Given the description of an element on the screen output the (x, y) to click on. 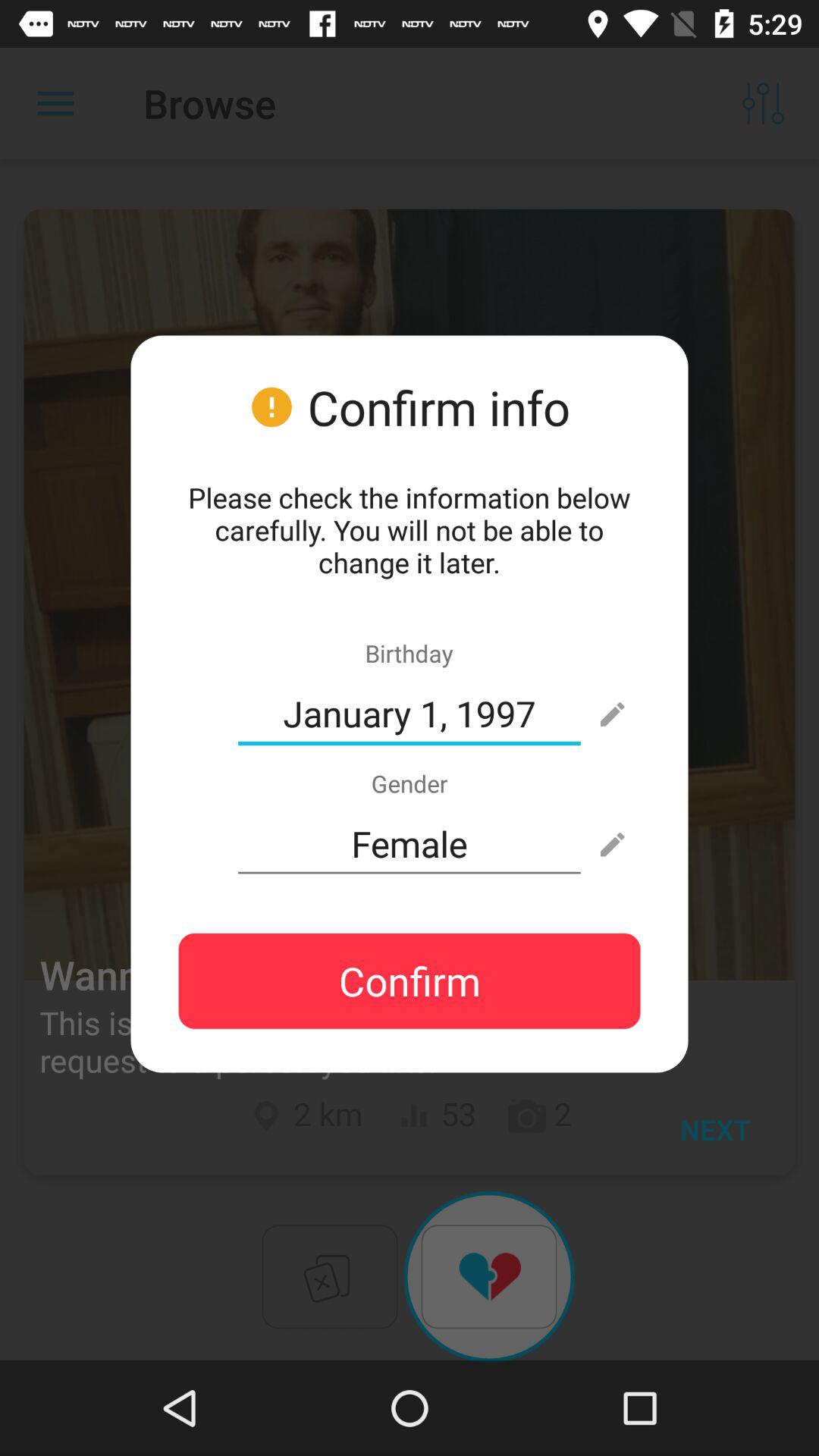
tap the item above confirm icon (409, 844)
